Given the description of an element on the screen output the (x, y) to click on. 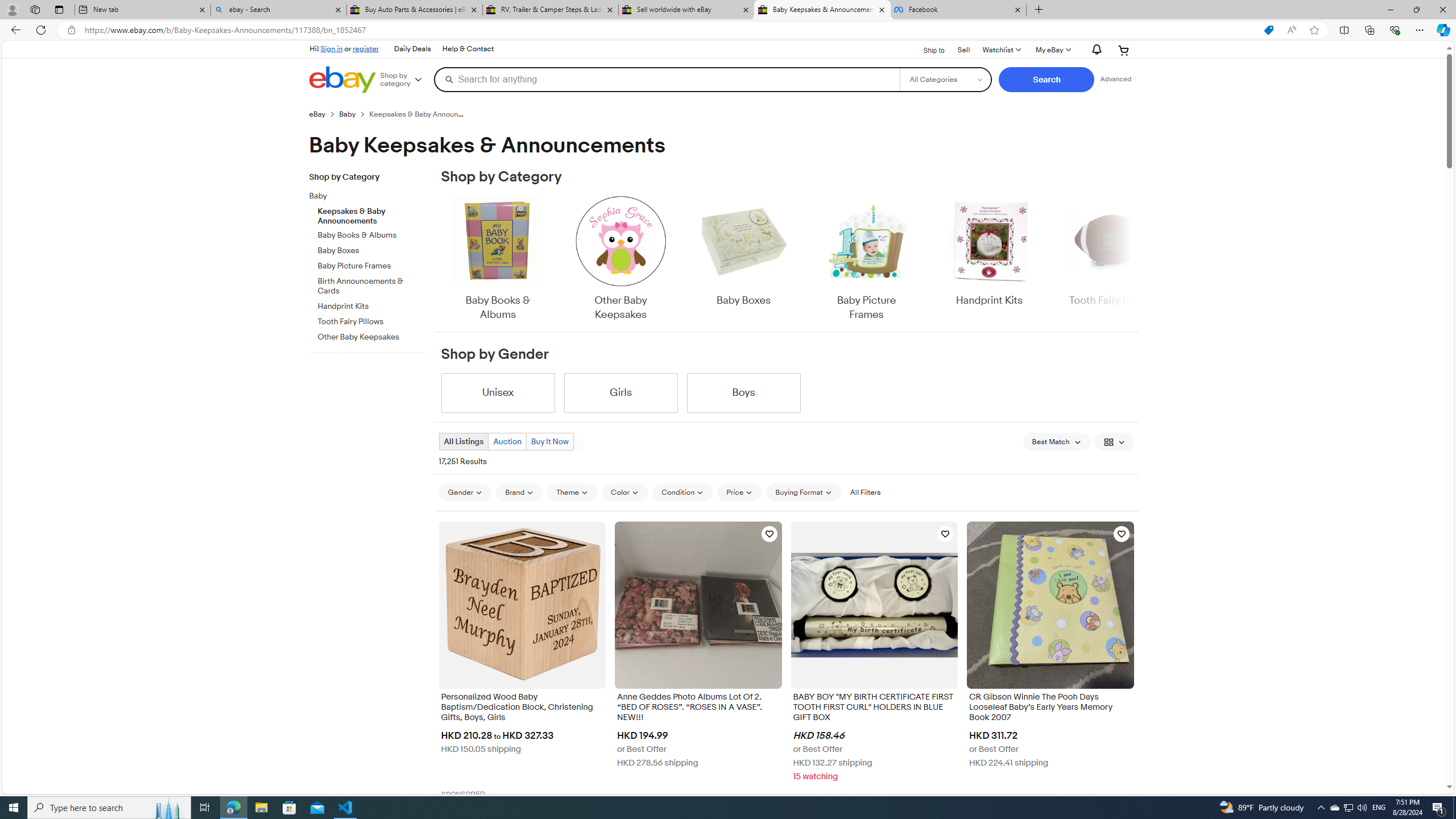
Handprint Kits (988, 251)
Condition (682, 492)
Buy It Now (549, 441)
Buying Format (803, 492)
Sort: Best Match (1056, 441)
Search for anything (666, 78)
Girls (620, 392)
Handprint Kits (988, 258)
Condition (682, 492)
Daily Deals (412, 49)
Buy It Now (549, 441)
